Given the description of an element on the screen output the (x, y) to click on. 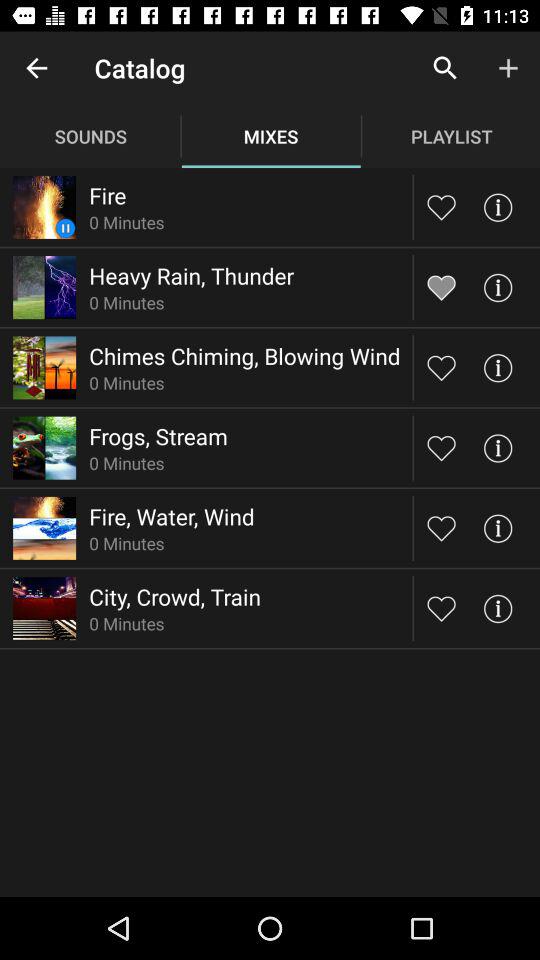
like/save (441, 206)
